Given the description of an element on the screen output the (x, y) to click on. 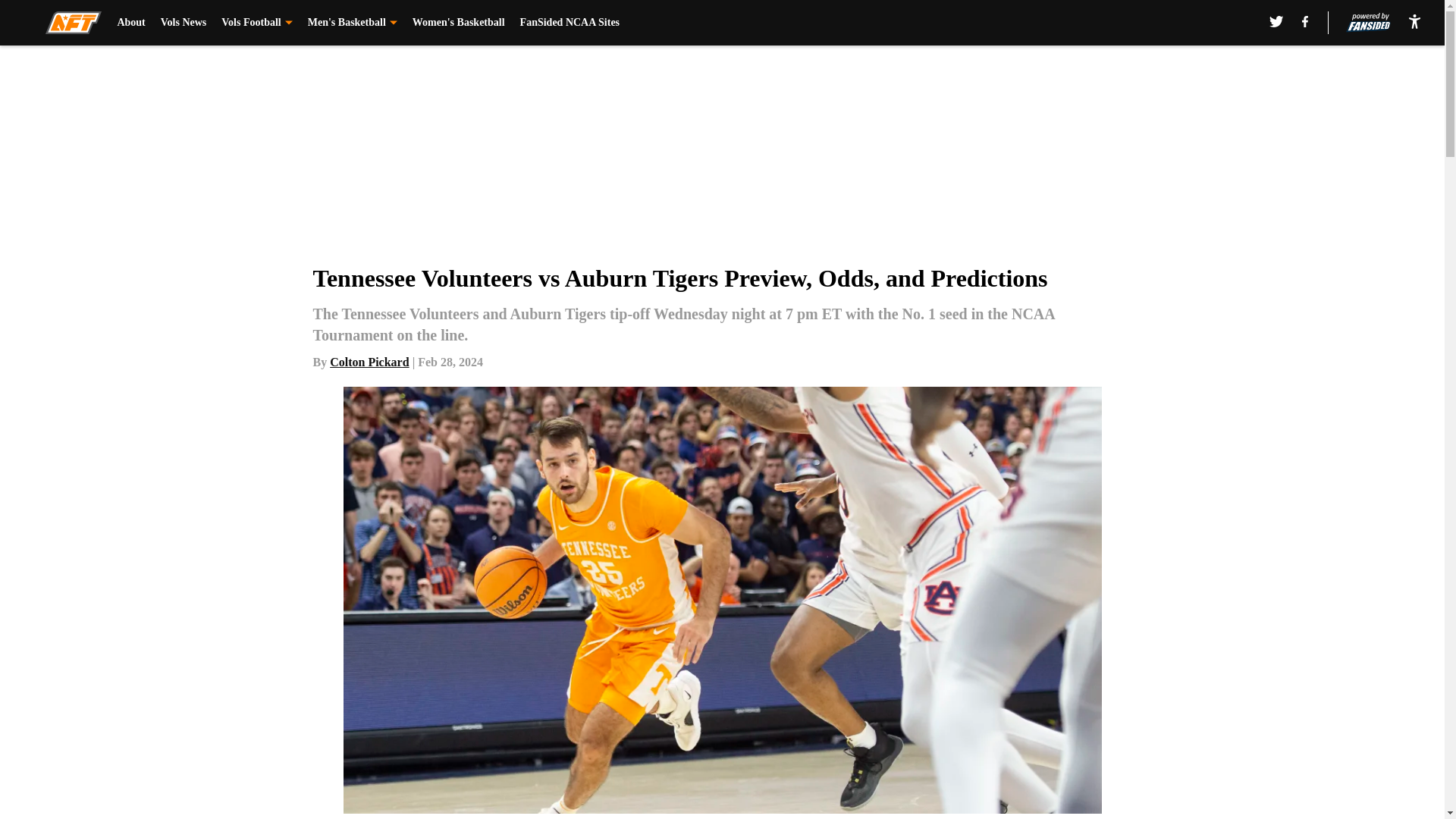
About (130, 22)
Colton Pickard (369, 361)
Vols News (183, 22)
FanSided NCAA Sites (569, 22)
Women's Basketball (458, 22)
